Given the description of an element on the screen output the (x, y) to click on. 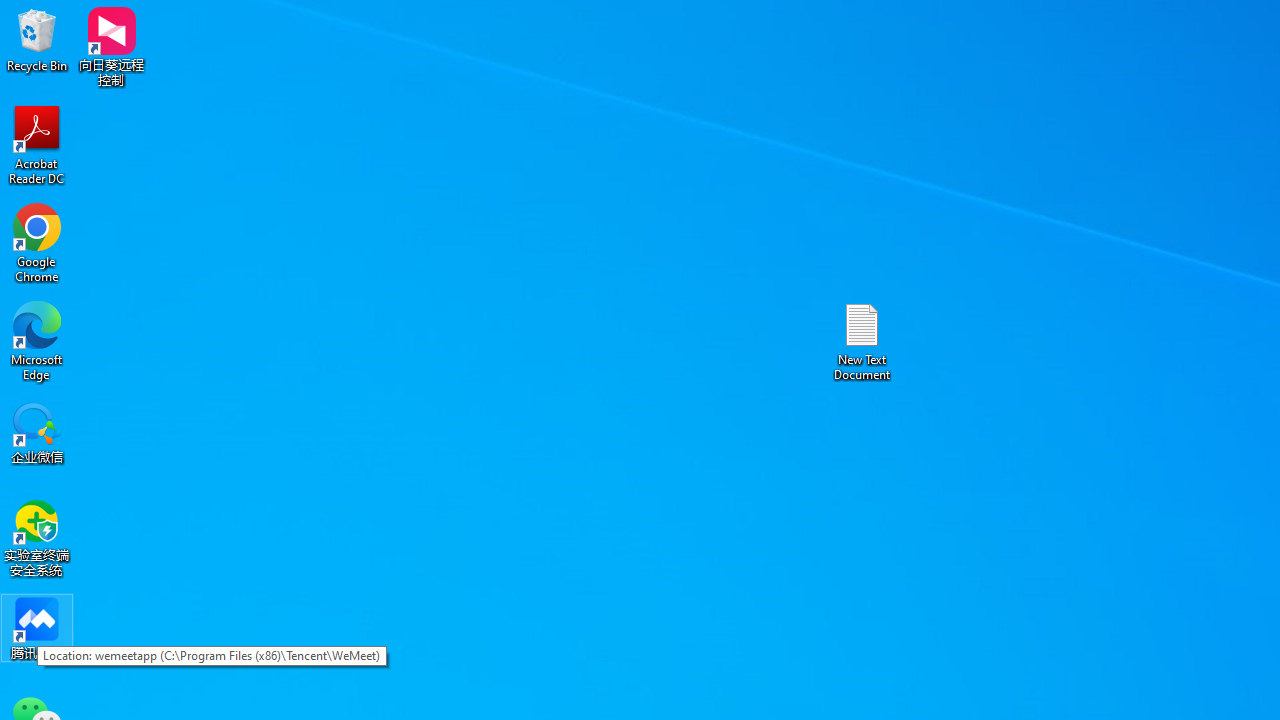
Acrobat Reader DC (37, 144)
Google Chrome (37, 242)
Recycle Bin (37, 39)
New Text Document (861, 340)
Microsoft Edge (37, 340)
